Given the description of an element on the screen output the (x, y) to click on. 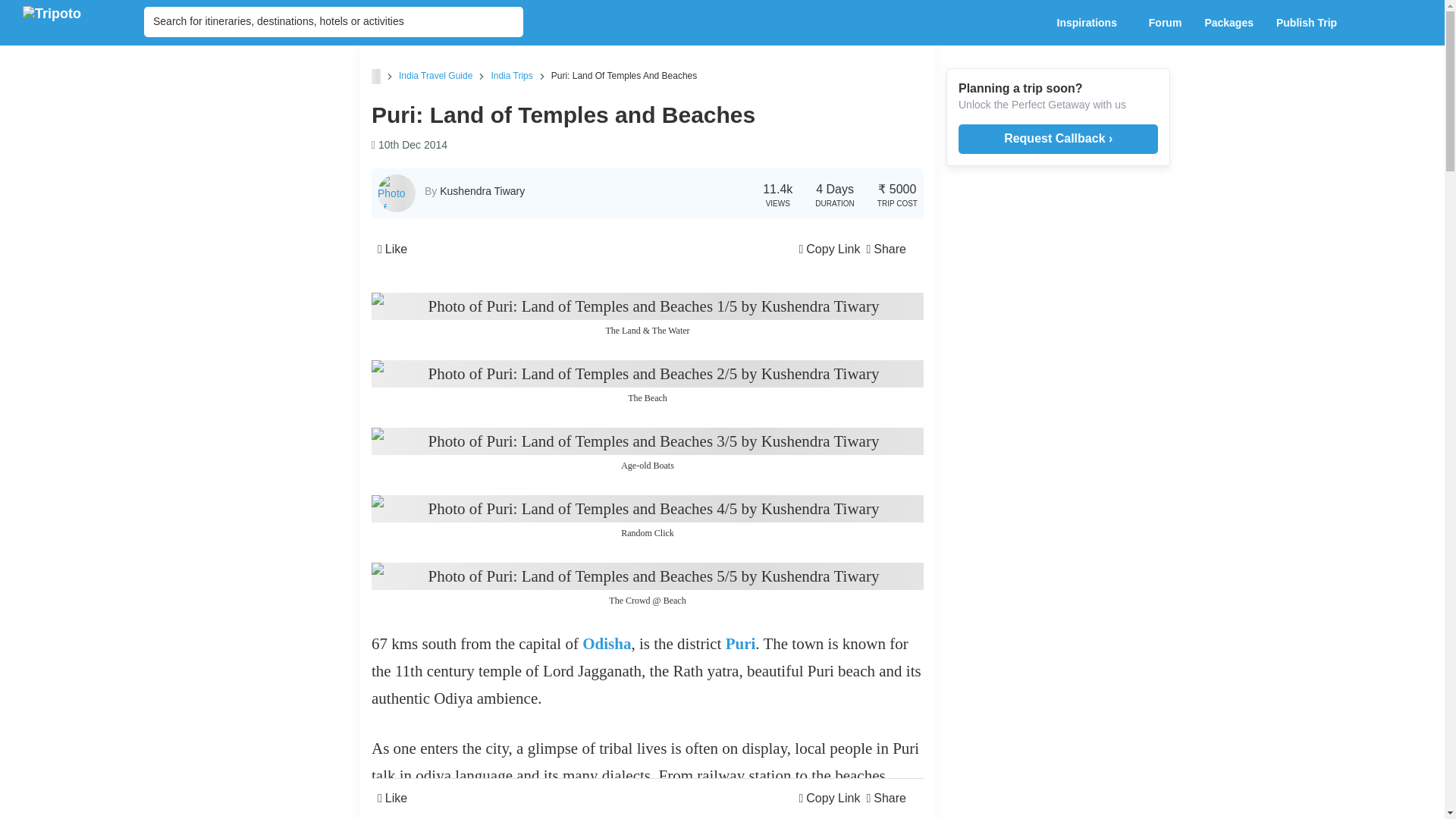
India Travel Guide (434, 75)
By Kushendra Tiwary (474, 190)
Inspirations (1091, 22)
Puri: Land Of Temples And Beaches (624, 75)
Publish Trip  (1310, 22)
Packages (1228, 22)
India Trips (511, 75)
Inspirations (1091, 22)
Forum (1165, 22)
Publish Trip (1310, 22)
